Given the description of an element on the screen output the (x, y) to click on. 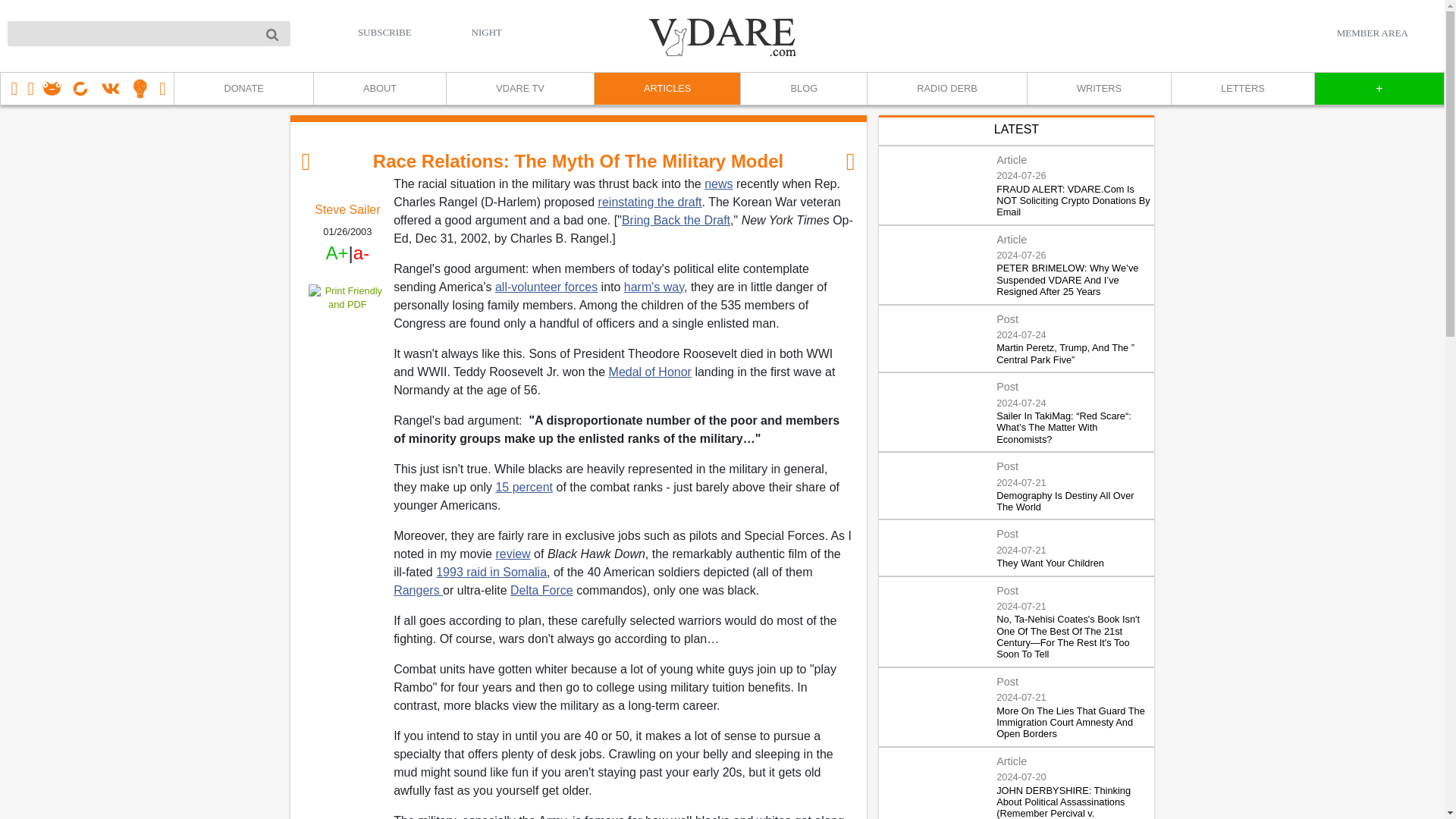
LETTERS (1242, 88)
WRITERS (1098, 88)
Share to Twitter (347, 343)
VDARE TV (519, 88)
Printer Friendly and PDF (347, 297)
ABOUT (379, 88)
SUBSCRIBE (385, 31)
DONATE (243, 88)
ARTICLES (666, 88)
MEMBER AREA (1371, 32)
